Given the description of an element on the screen output the (x, y) to click on. 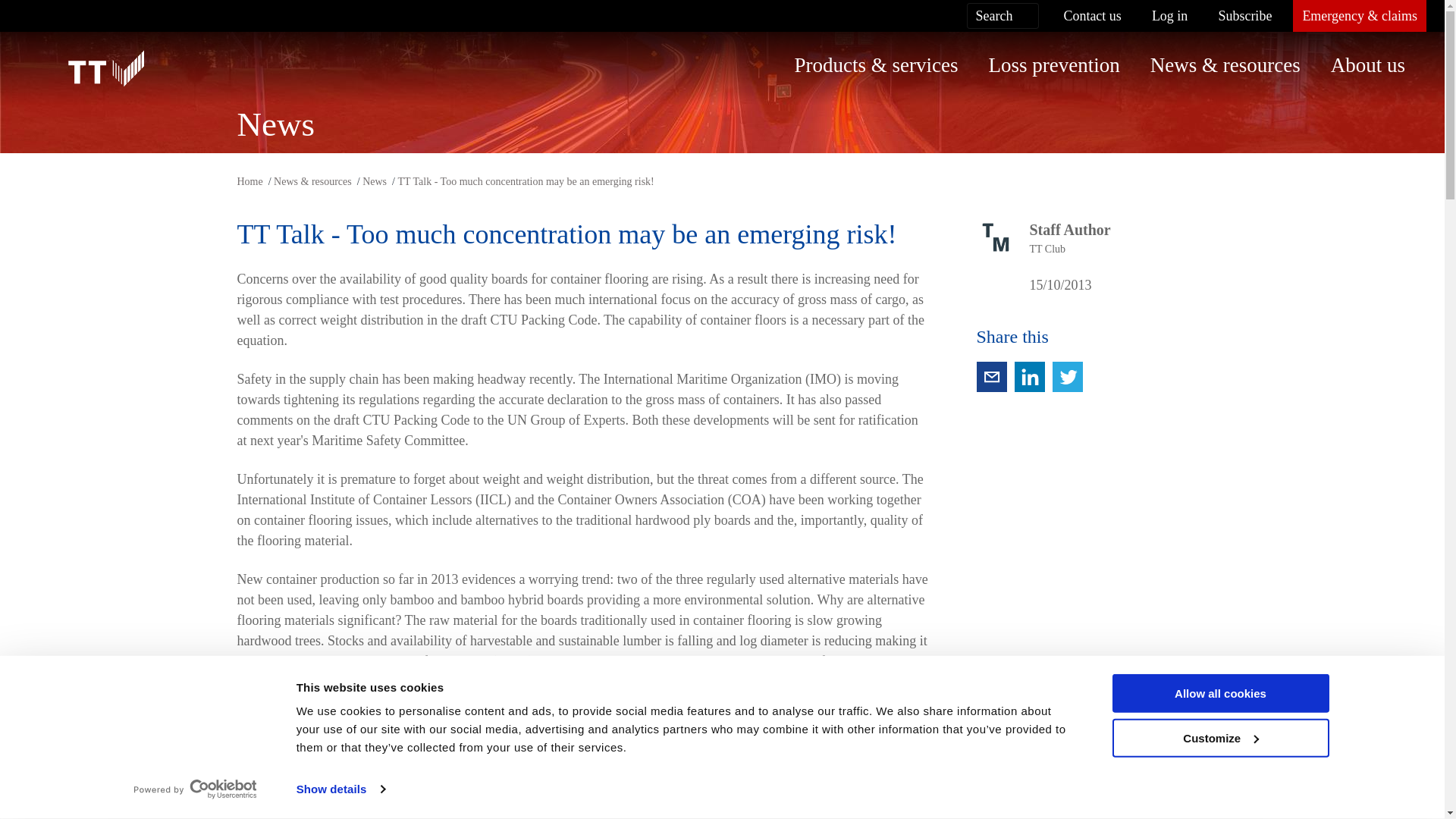
Show details (340, 789)
